Given the description of an element on the screen output the (x, y) to click on. 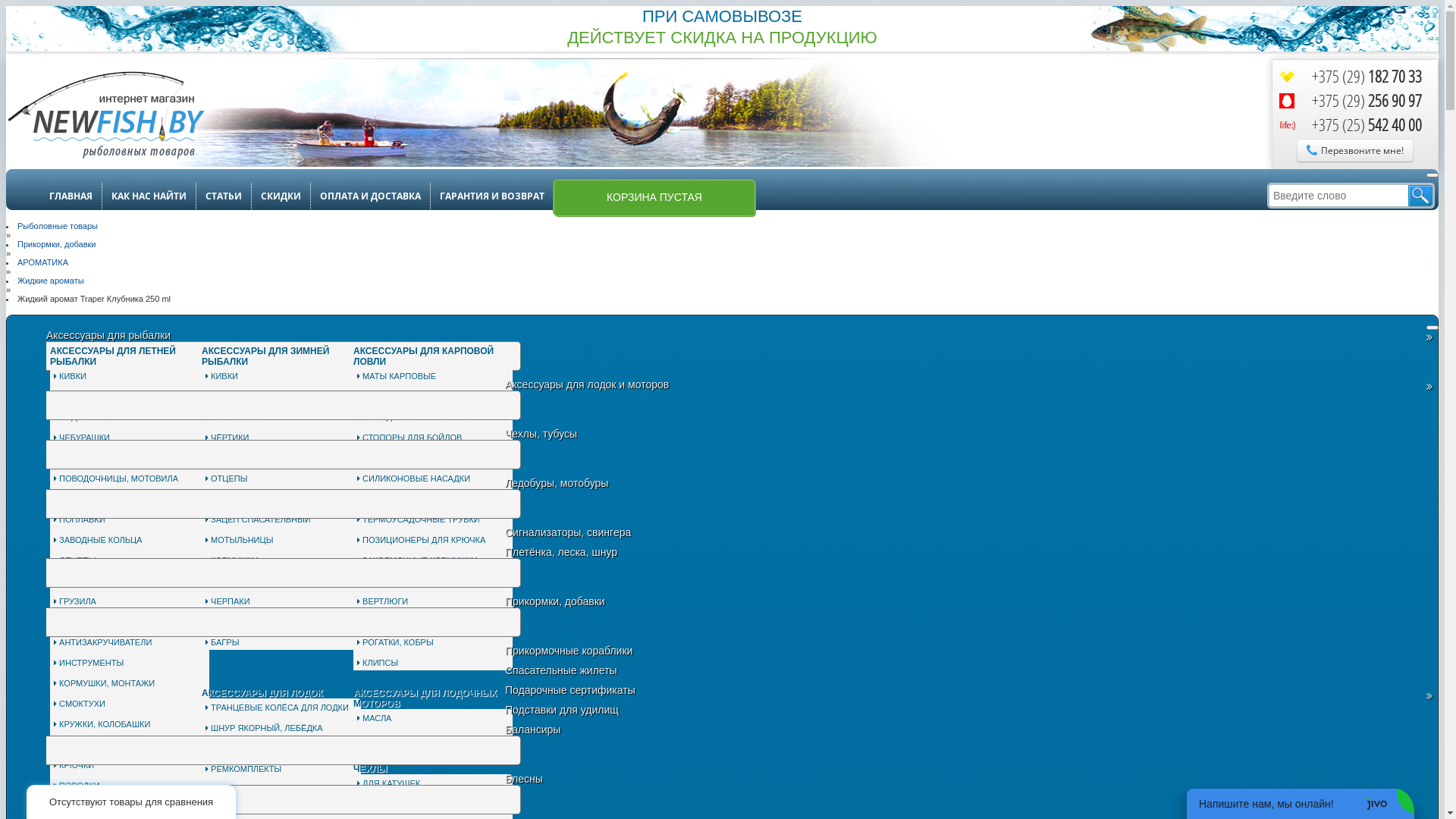
Toggle navigation Element type: text (1432, 327)
